Given the description of an element on the screen output the (x, y) to click on. 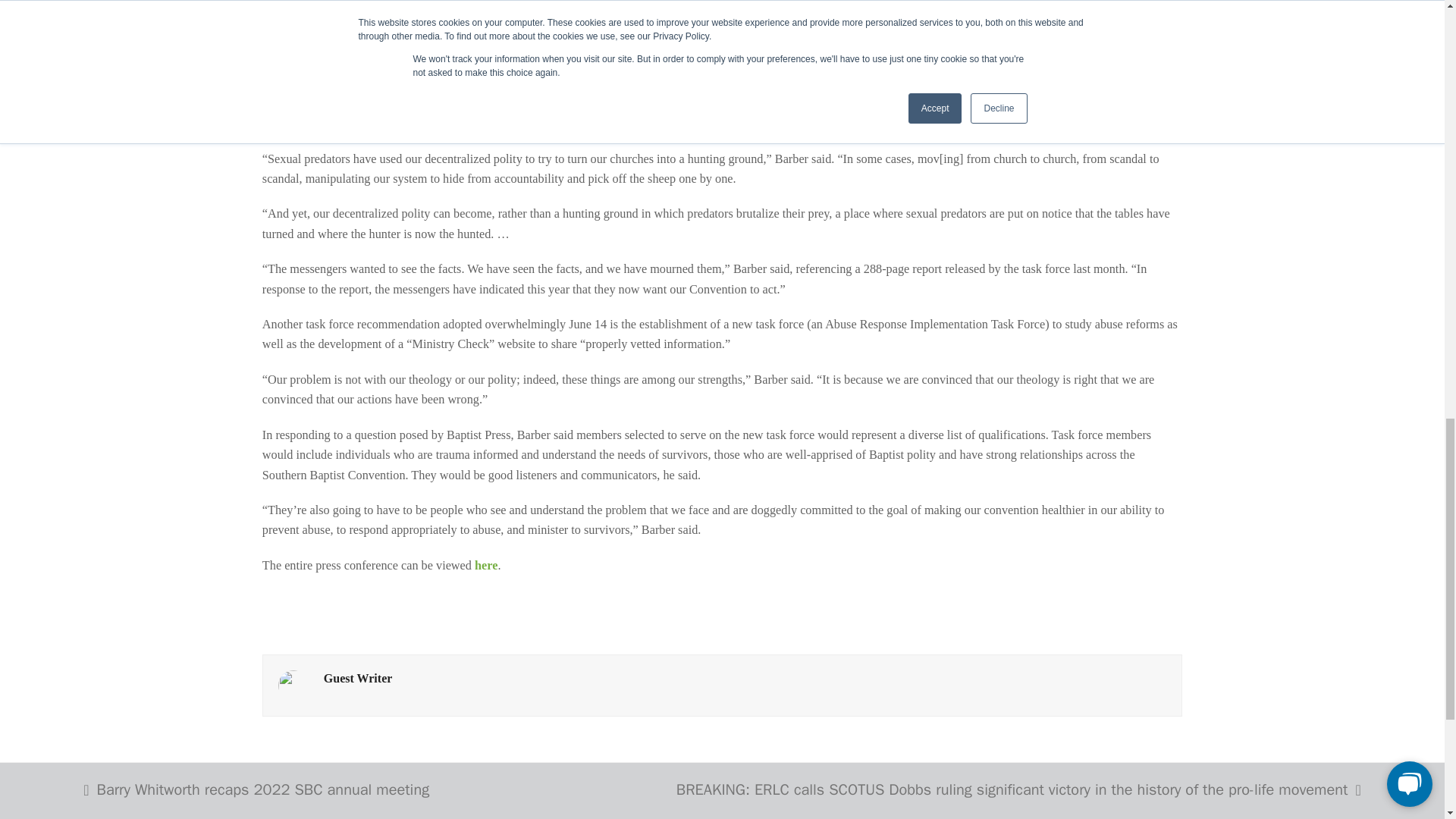
Visit Author Page (293, 684)
Visit Author Page (358, 677)
